Given the description of an element on the screen output the (x, y) to click on. 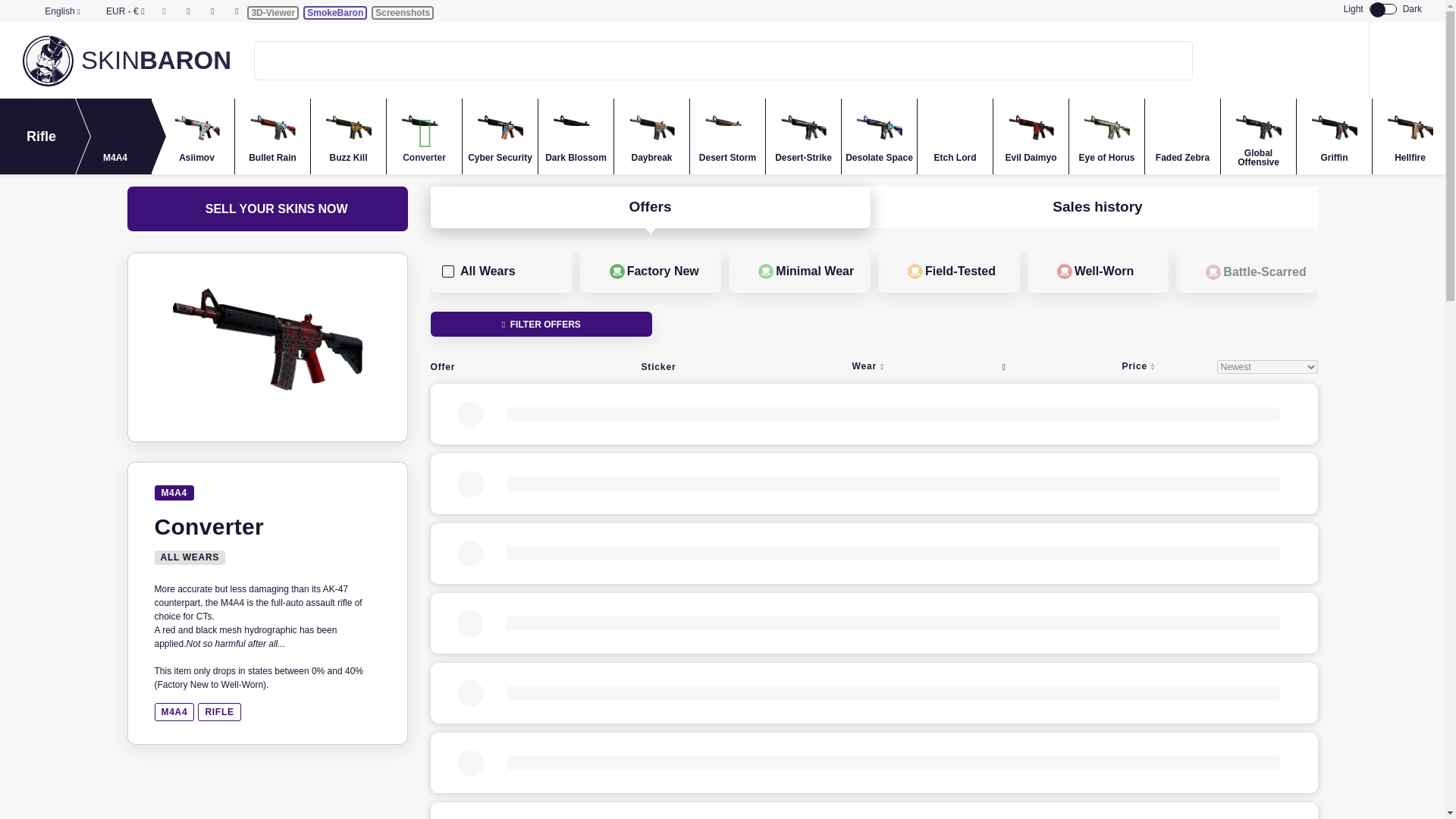
SMG (189, 136)
SmokeBaron (334, 12)
Screenshots (402, 12)
SkinBaron (156, 60)
3D-Viewer (272, 12)
Knife (37, 136)
Heavy (113, 136)
SKINBARON (156, 60)
